Given the description of an element on the screen output the (x, y) to click on. 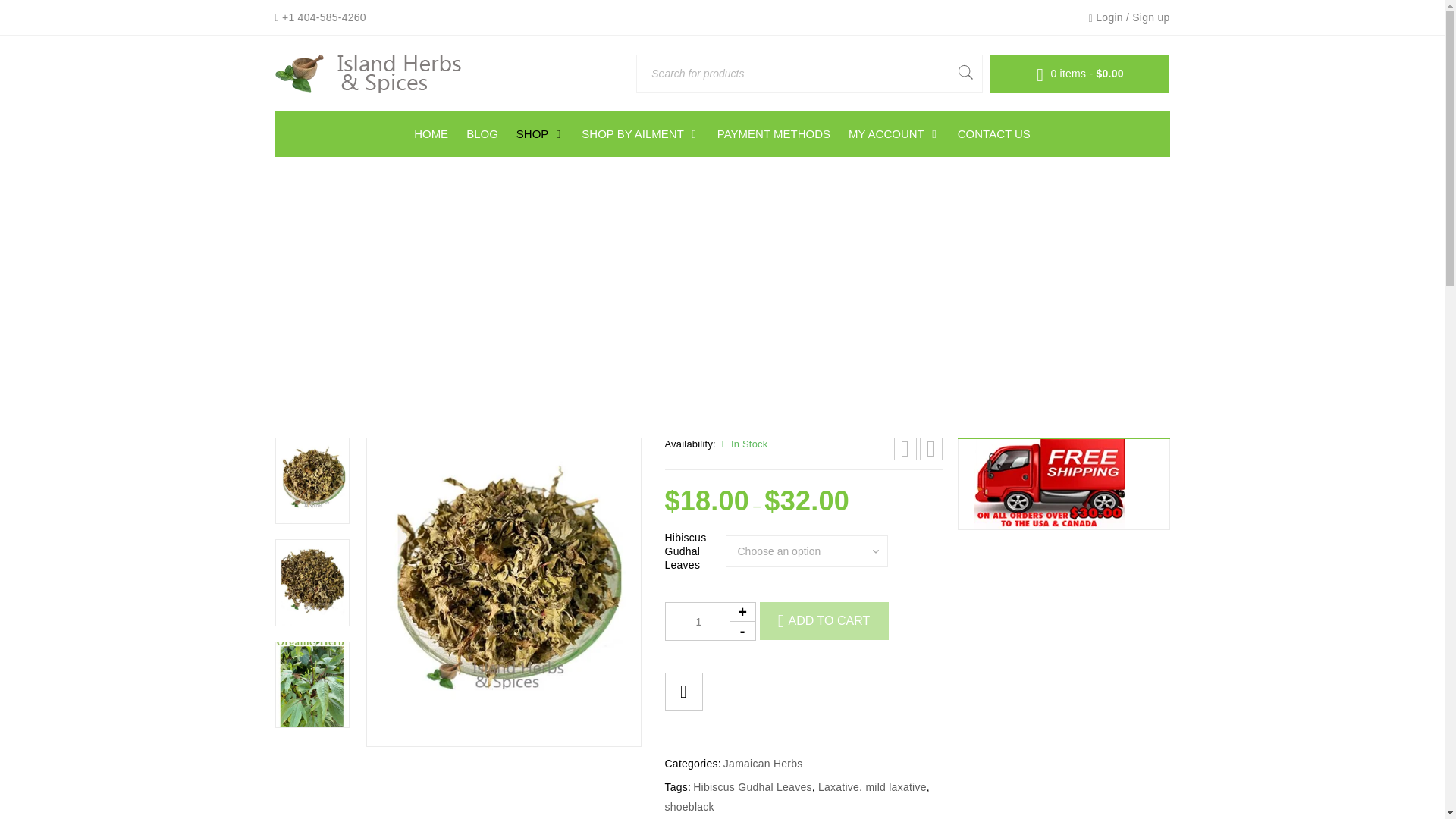
- (742, 630)
Search (964, 72)
View your shopping bag (1080, 73)
1 (709, 620)
SHOP (540, 134)
SHOP BY AILMENT (639, 134)
Login (1109, 17)
Search (964, 72)
Login (1109, 17)
Hibiscus Gudhal Leaves (502, 591)
Create New Account (1150, 17)
Qty (709, 620)
BoxShop (369, 73)
Sign up (1150, 17)
